Given the description of an element on the screen output the (x, y) to click on. 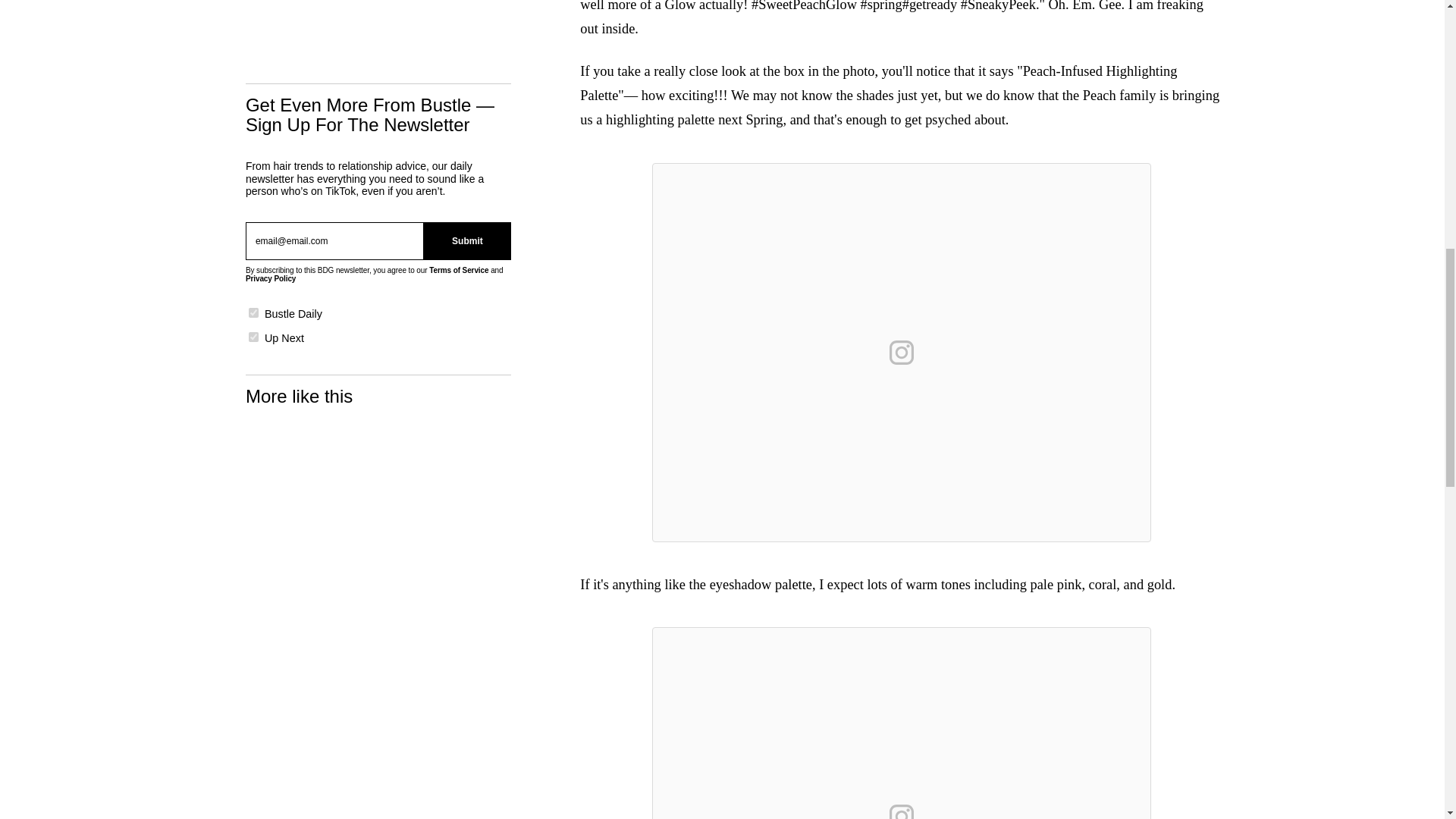
Submit (467, 240)
Terms of Service (458, 270)
Privacy Policy (270, 278)
View on Instagram (901, 352)
View on Instagram (901, 808)
